Given the description of an element on the screen output the (x, y) to click on. 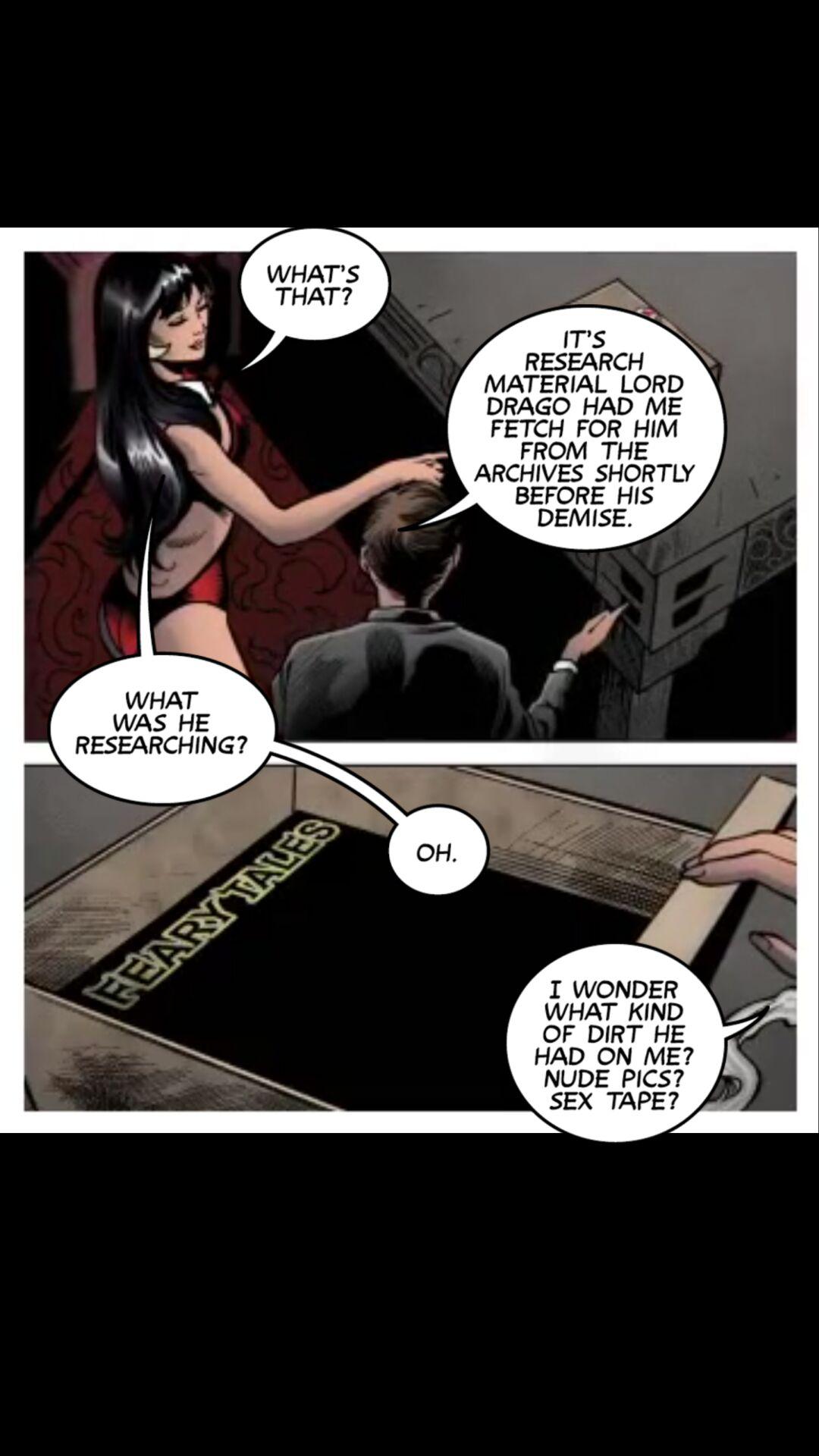
go to story (562, 428)
